Given the description of an element on the screen output the (x, y) to click on. 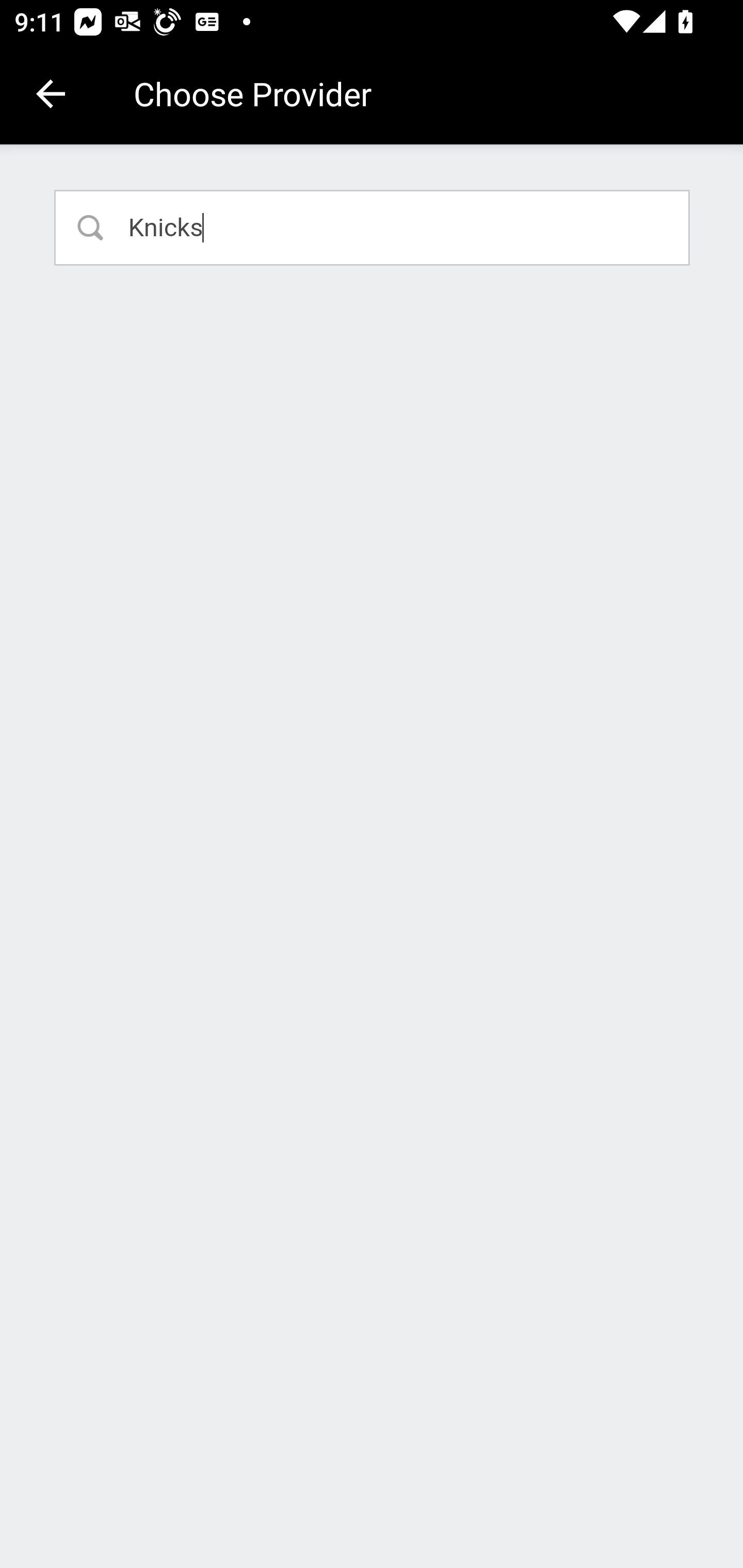
Navigate up (50, 93)
Knicks (372, 227)
